Given the description of an element on the screen output the (x, y) to click on. 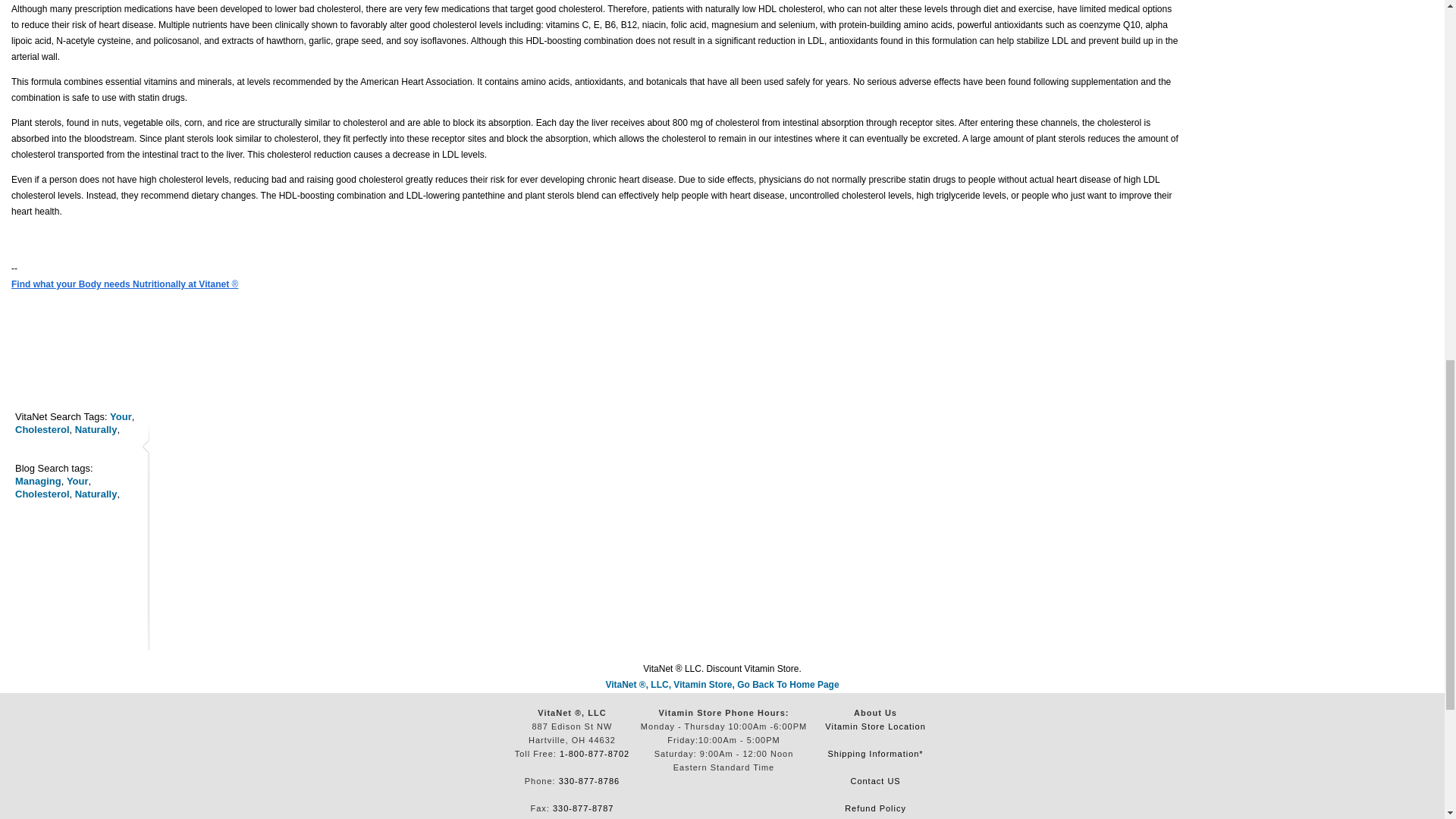
Search Forums for: Your (77, 480)
Search for: Naturally (96, 429)
Search Forums for: Managing (37, 480)
Search Forums for: Cholesterol (41, 493)
Search for: Cholesterol (41, 429)
Search for: Your (121, 416)
Search Forums for: Naturally (96, 493)
vitanet vitamin store (721, 684)
